Given the description of an element on the screen output the (x, y) to click on. 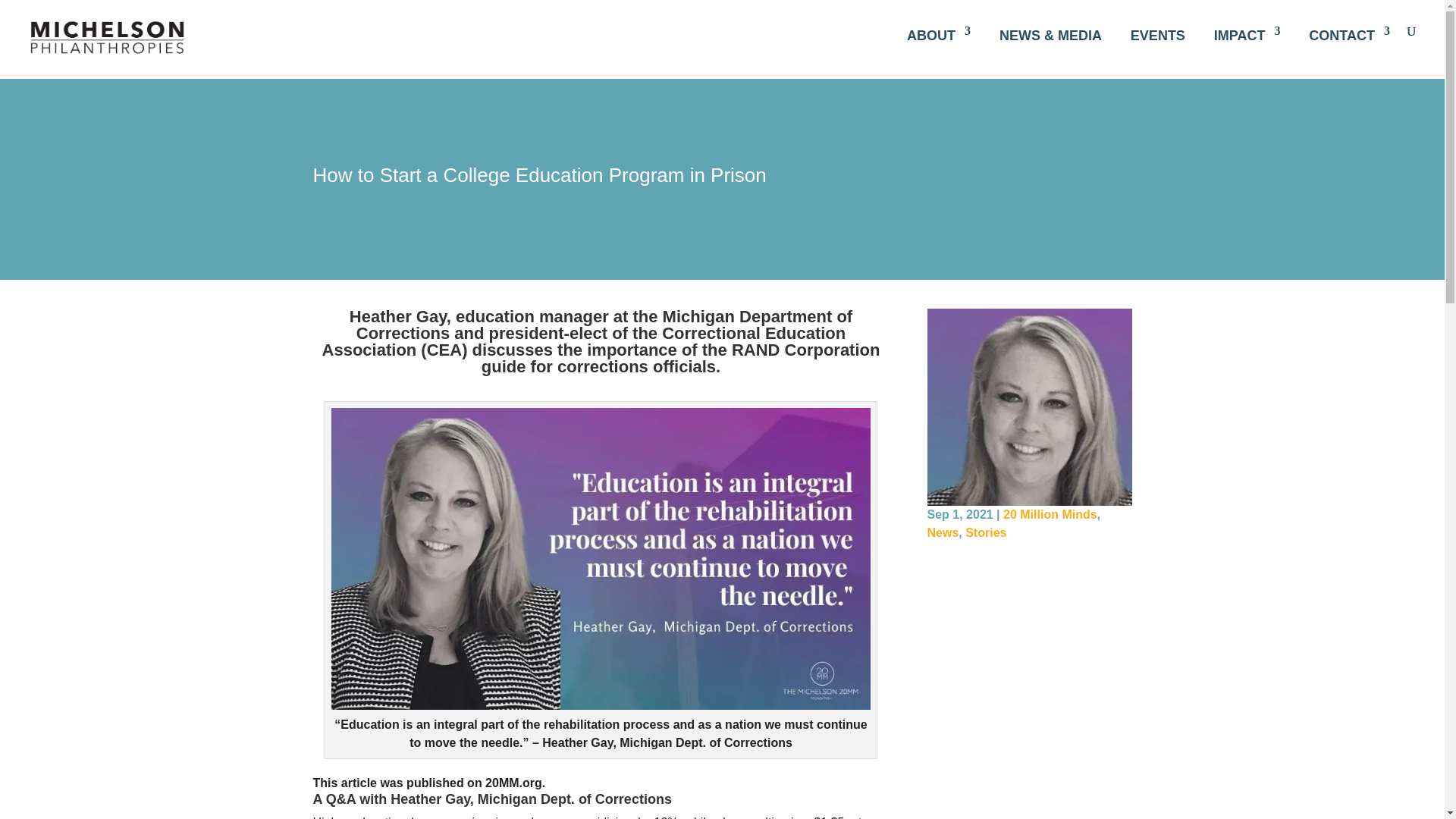
ABOUT (939, 32)
20 Million Minds (1050, 513)
EVENTS (1158, 32)
News (942, 532)
attachment-613009f03a7bb21381871b58 (1028, 407)
CONTACT (1349, 32)
IMPACT (1247, 32)
Stories (985, 532)
